Given the description of an element on the screen output the (x, y) to click on. 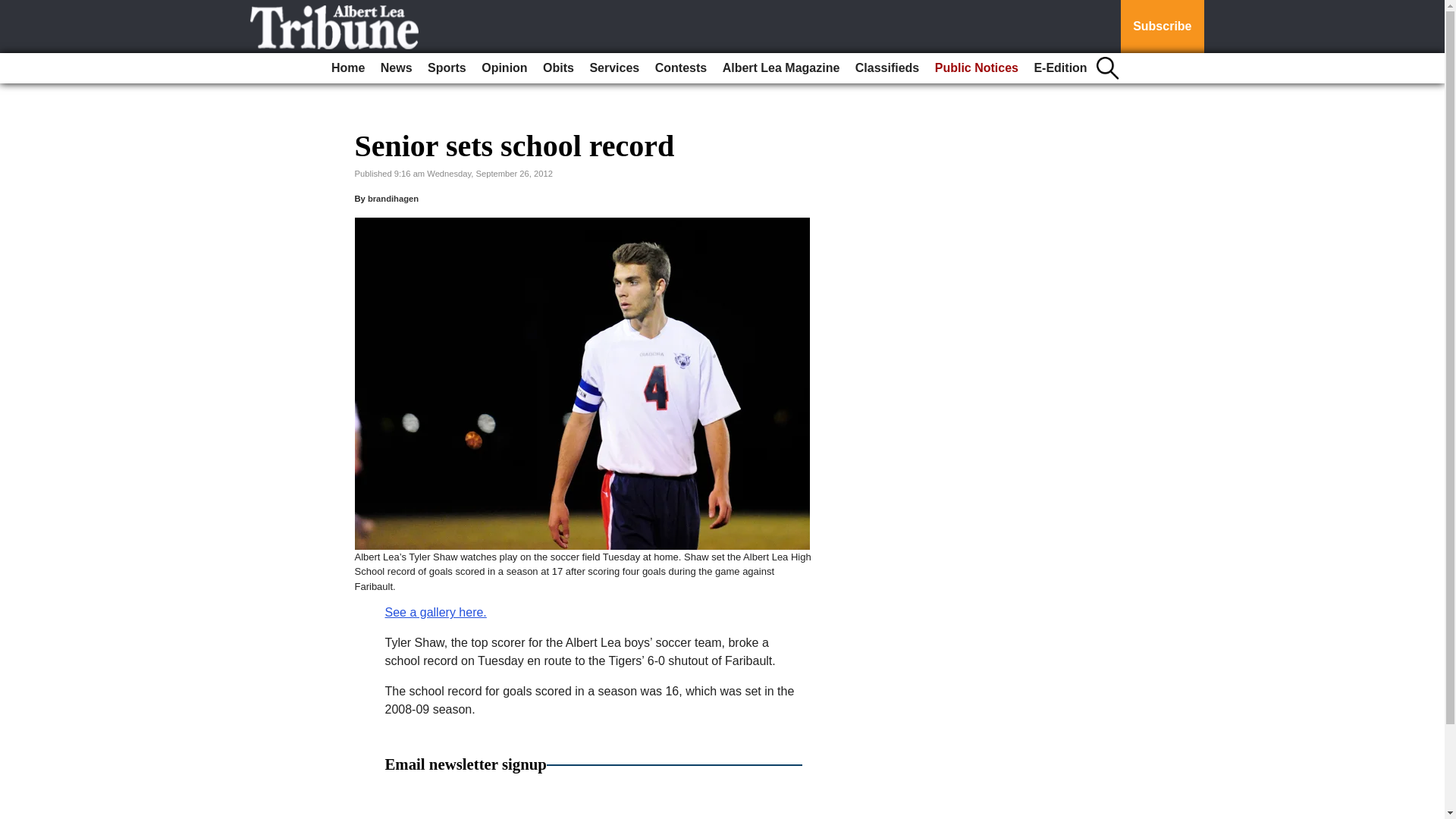
Home (347, 68)
News (396, 68)
Opinion (504, 68)
Sports (446, 68)
Obits (558, 68)
Subscribe (1162, 26)
Services (614, 68)
